Given the description of an element on the screen output the (x, y) to click on. 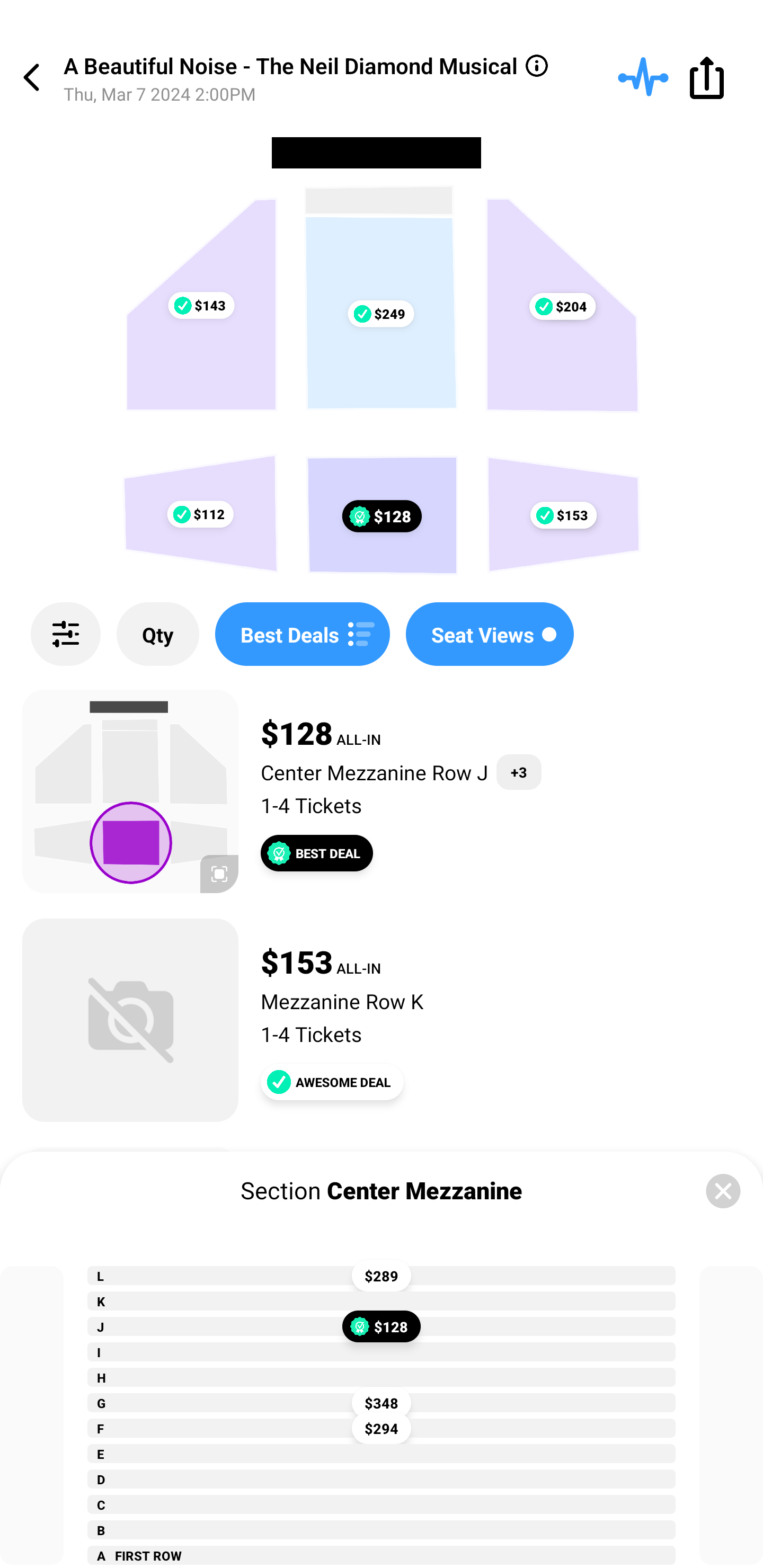
$289 (381, 1275)
$128 (381, 1326)
$348 (381, 1402)
$294 (381, 1427)
